Given the description of an element on the screen output the (x, y) to click on. 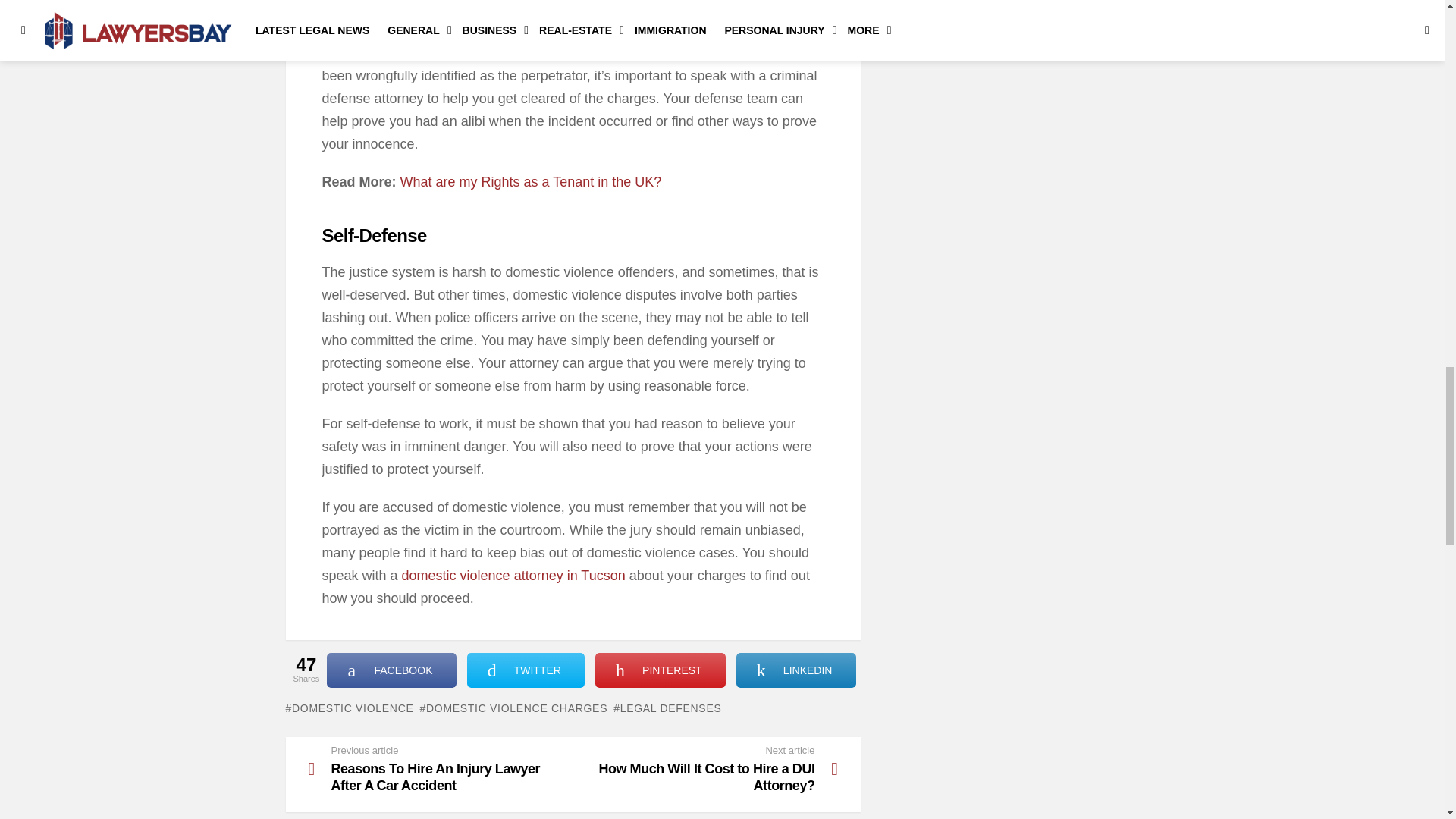
Share on Facebook (390, 669)
Share on Twitter (526, 669)
Share on Pinterest (660, 669)
Share on LinkedIn (796, 669)
